Given the description of an element on the screen output the (x, y) to click on. 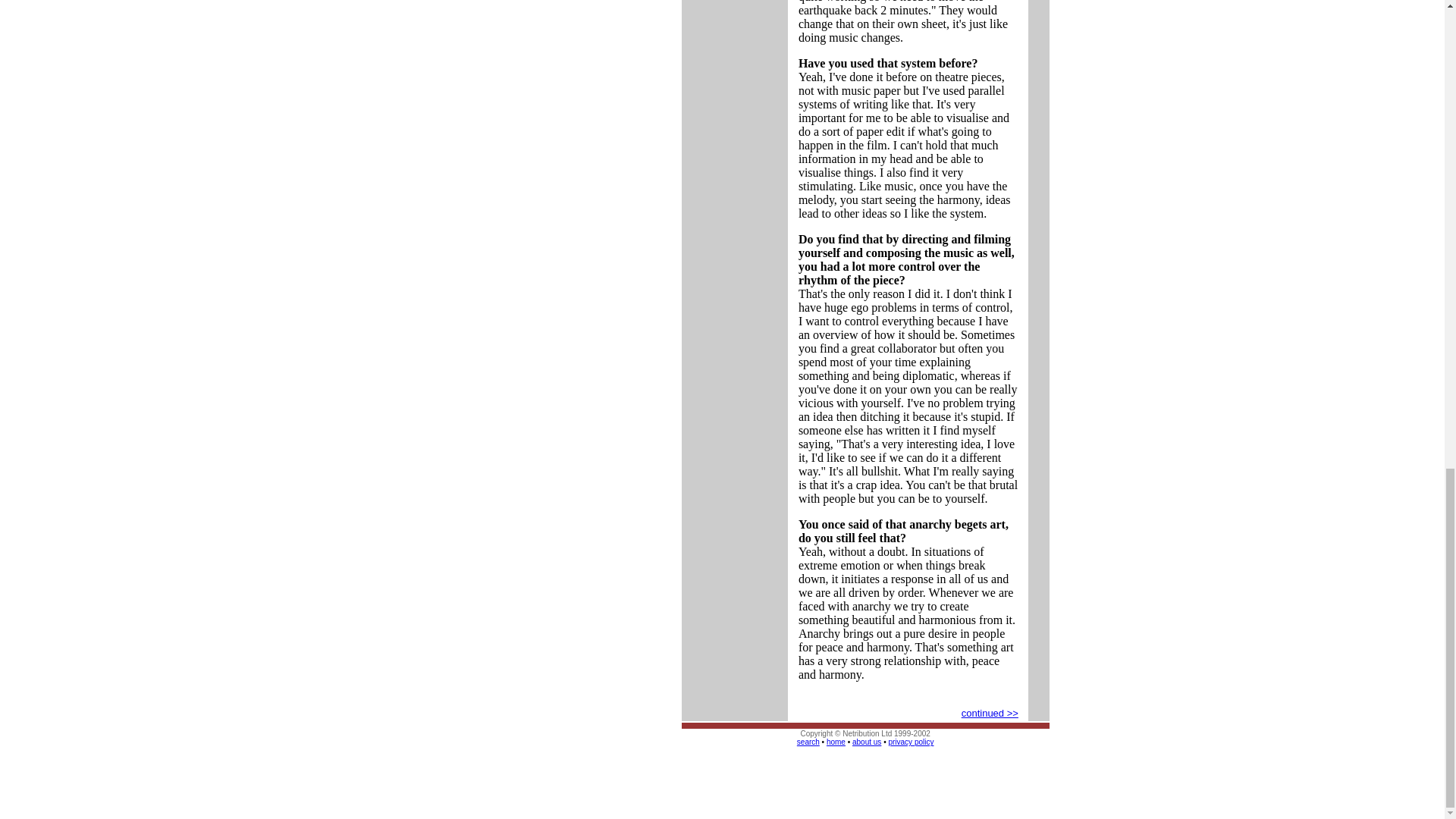
home (836, 741)
privacy policy (910, 741)
search (807, 741)
about us (865, 741)
